Given the description of an element on the screen output the (x, y) to click on. 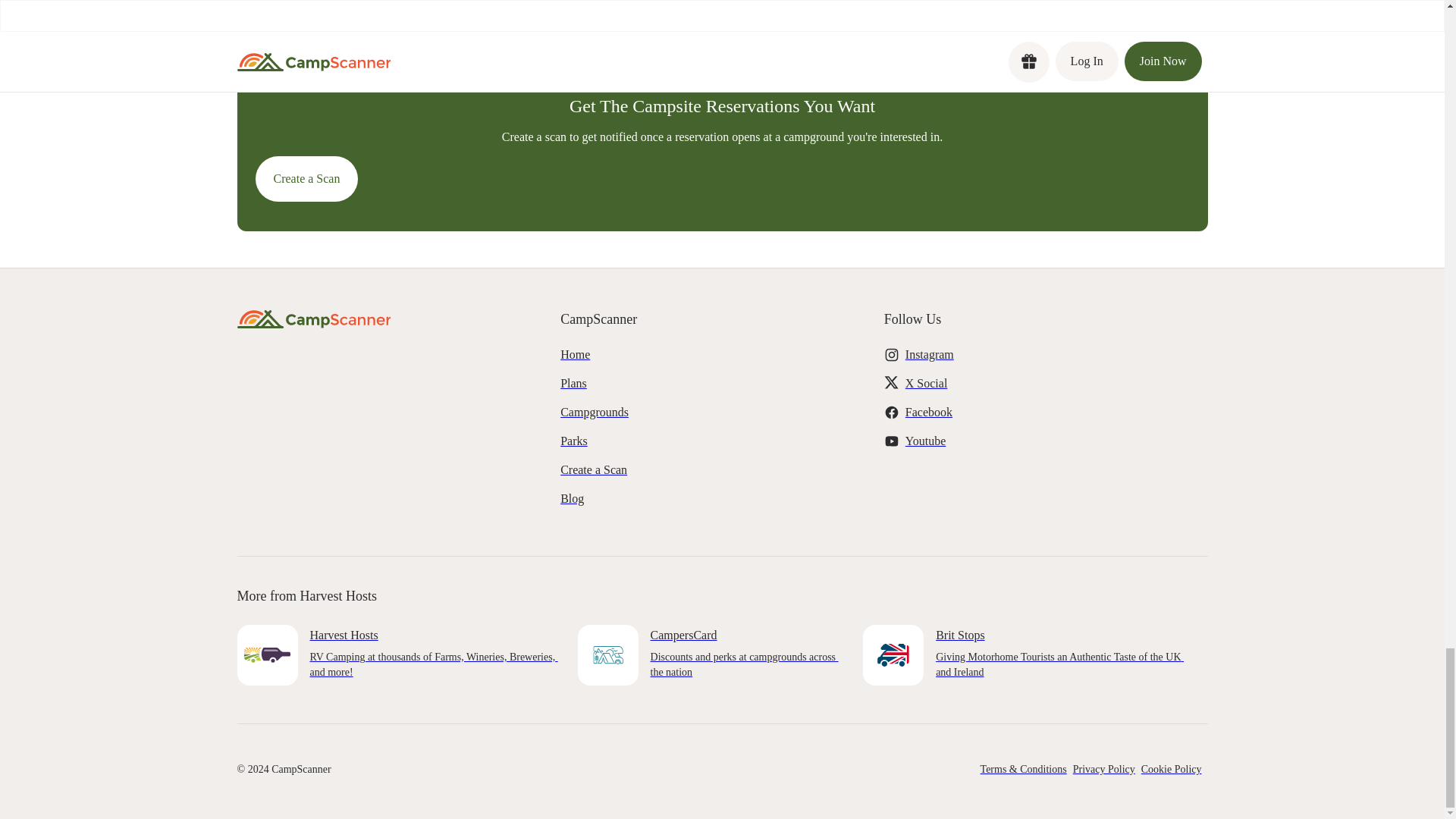
Cookie Policy (1174, 769)
Youtube (951, 440)
Create a Scan (306, 178)
Instagram (951, 354)
X Social (951, 383)
Blog (628, 498)
Campgrounds (628, 412)
Plans (628, 383)
Create a Scan (628, 469)
Home (628, 354)
Facebook (951, 412)
Privacy Policy (1107, 769)
